Given the description of an element on the screen output the (x, y) to click on. 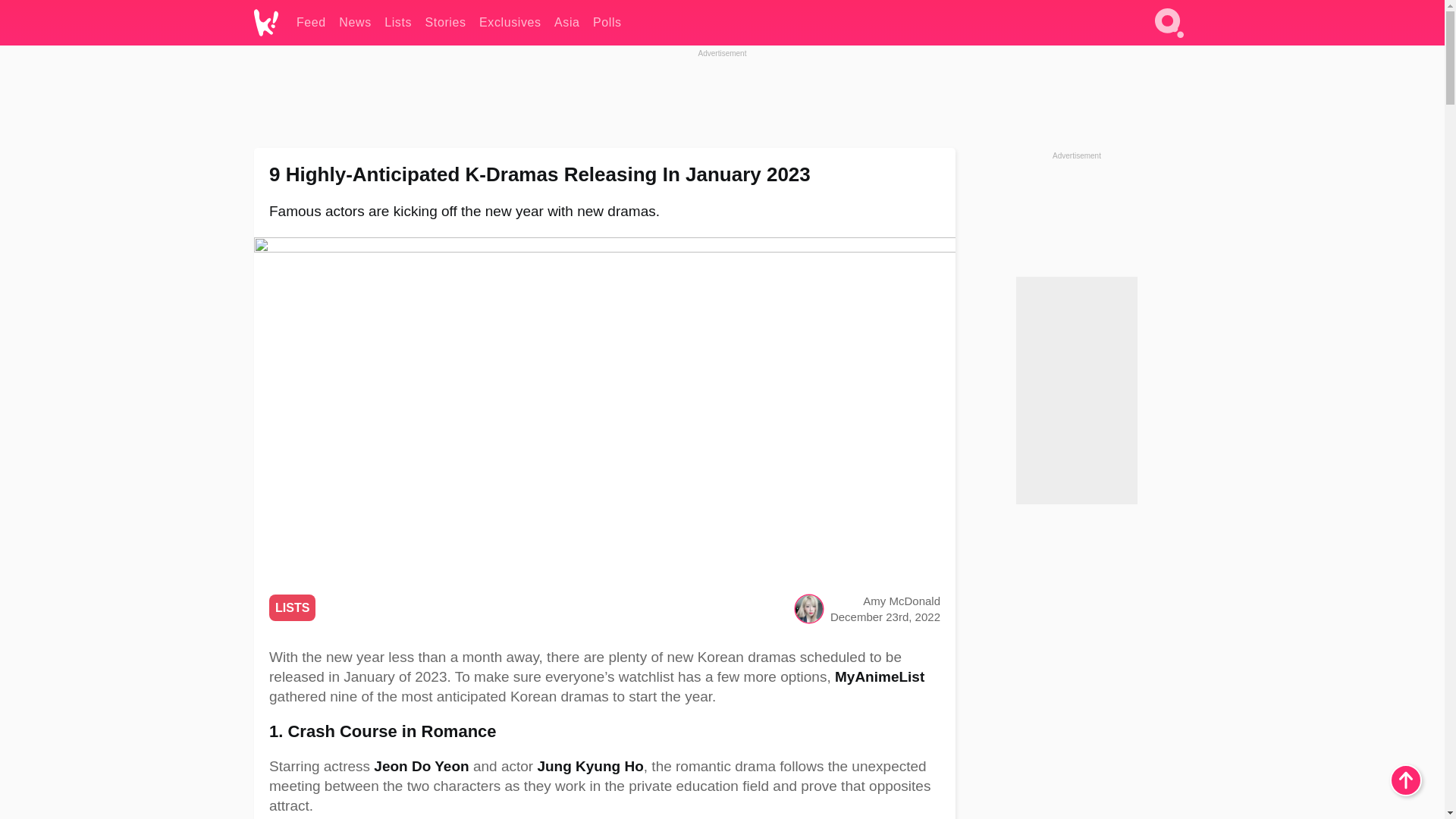
Stories (445, 22)
LISTS (292, 607)
Amy McDonald (901, 600)
Exclusives (510, 22)
